Given the description of an element on the screen output the (x, y) to click on. 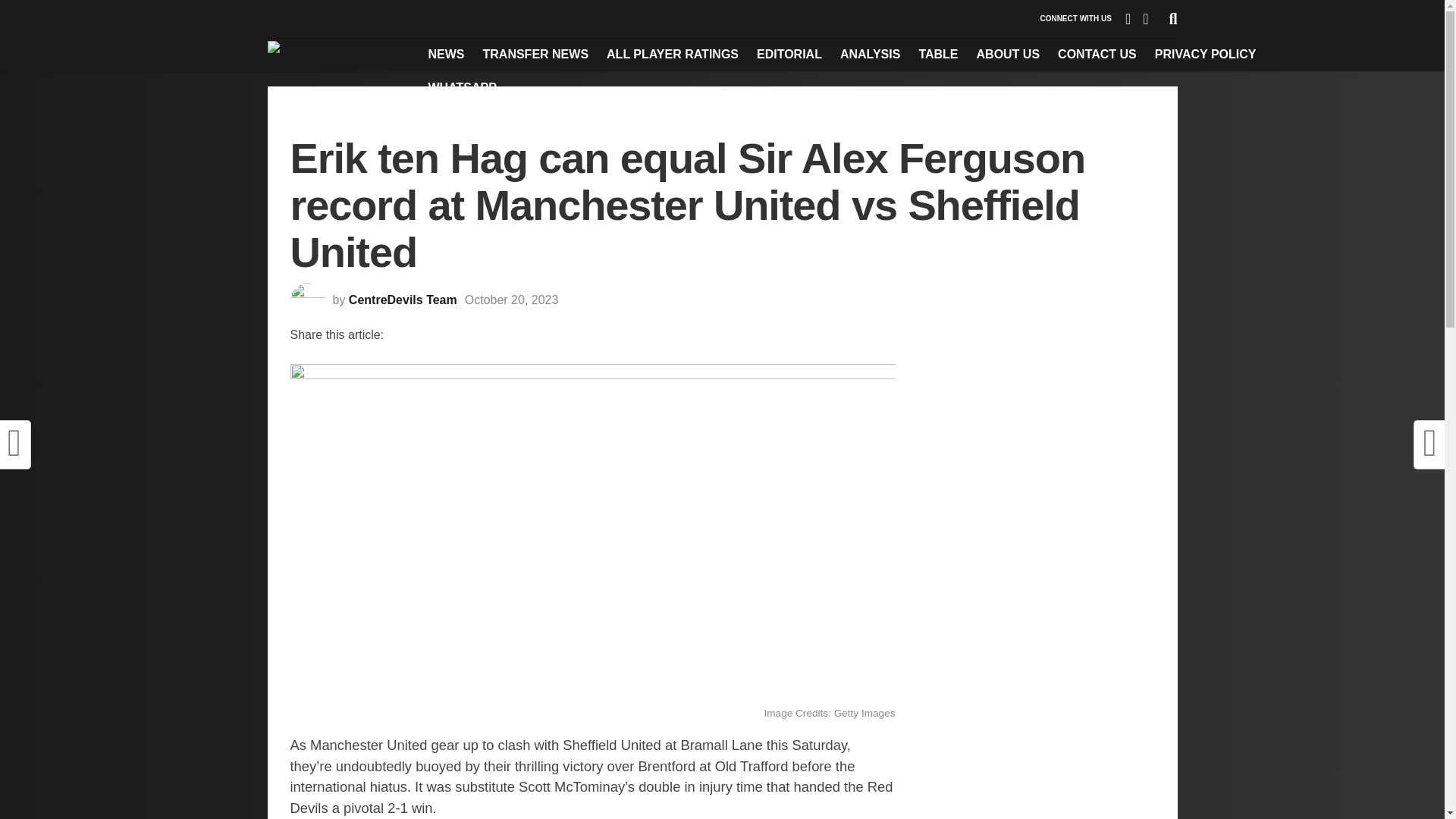
CONTACT US (1096, 54)
PRIVACY POLICY (1205, 54)
EDITORIAL (789, 54)
NEWS (446, 54)
TABLE (937, 54)
ALL PLAYER RATINGS (672, 54)
TRANSFER NEWS (534, 54)
ABOUT US (1008, 54)
WHATSAPP (462, 87)
ANALYSIS (869, 54)
